Given the description of an element on the screen output the (x, y) to click on. 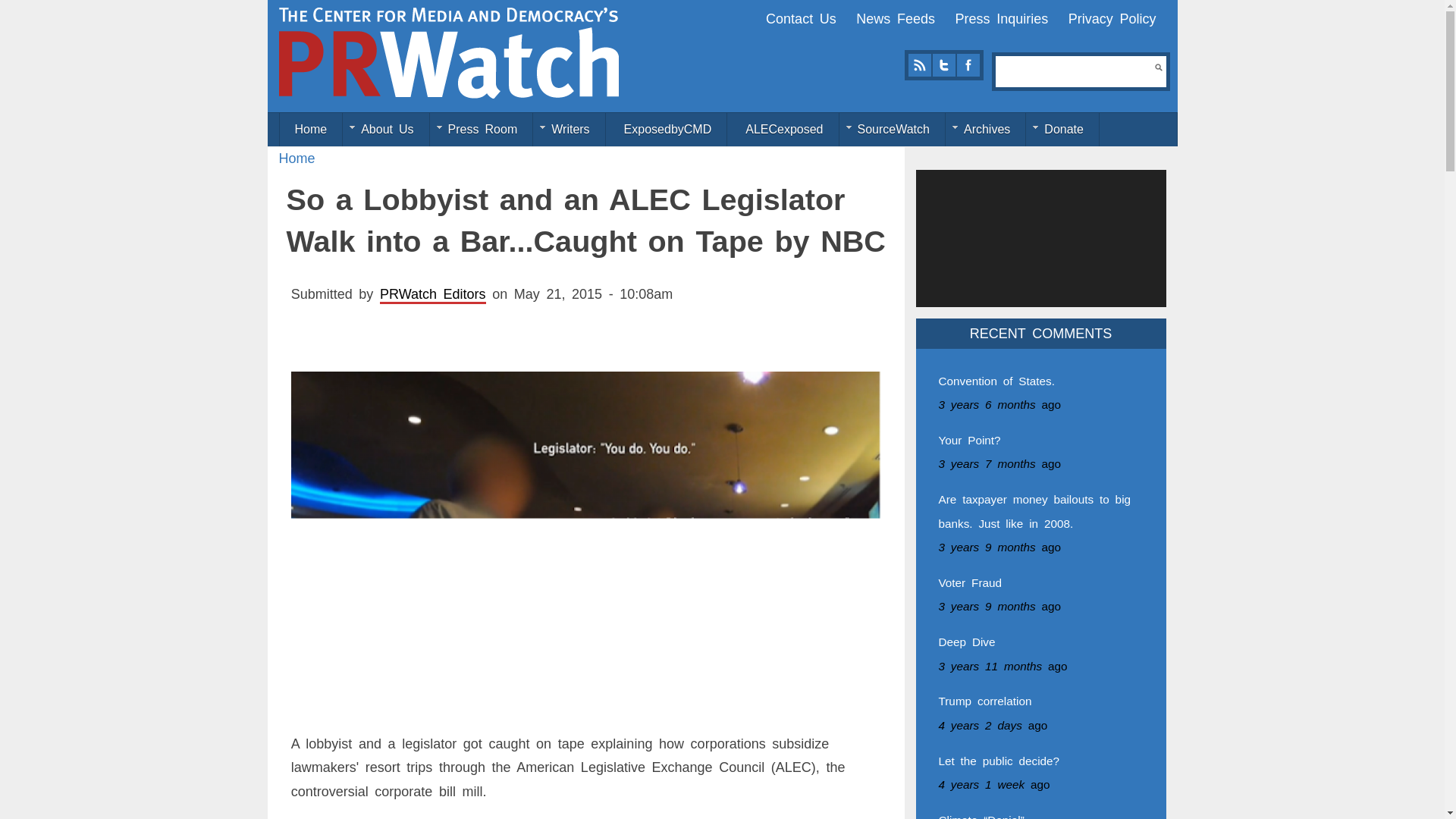
Subscribe to CMD's RSS Feeds (919, 64)
News Feeds (895, 18)
Join CMD's Facebook Page (967, 64)
View user profile. (433, 294)
Press Inquiries (1001, 18)
Contact Us (800, 18)
Privacy Policy (1112, 18)
Follow CMD's Posts on Twitter (943, 64)
RSS (919, 64)
Enter the terms you wish to search for. (1074, 71)
